Given the description of an element on the screen output the (x, y) to click on. 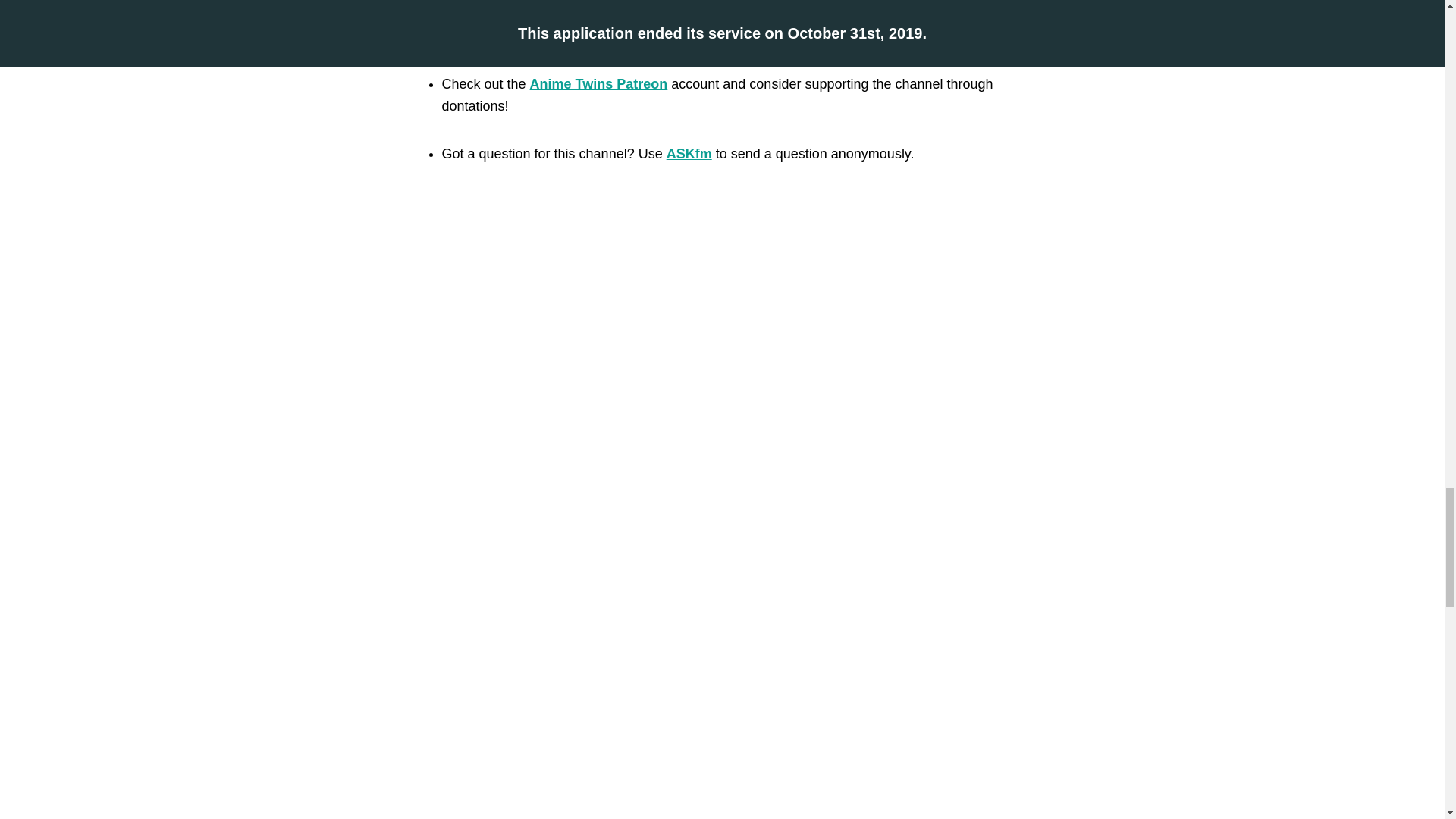
ASKfm (688, 153)
YouTube Community tab (804, 14)
Anime Twins Patreon (598, 83)
